Given the description of an element on the screen output the (x, y) to click on. 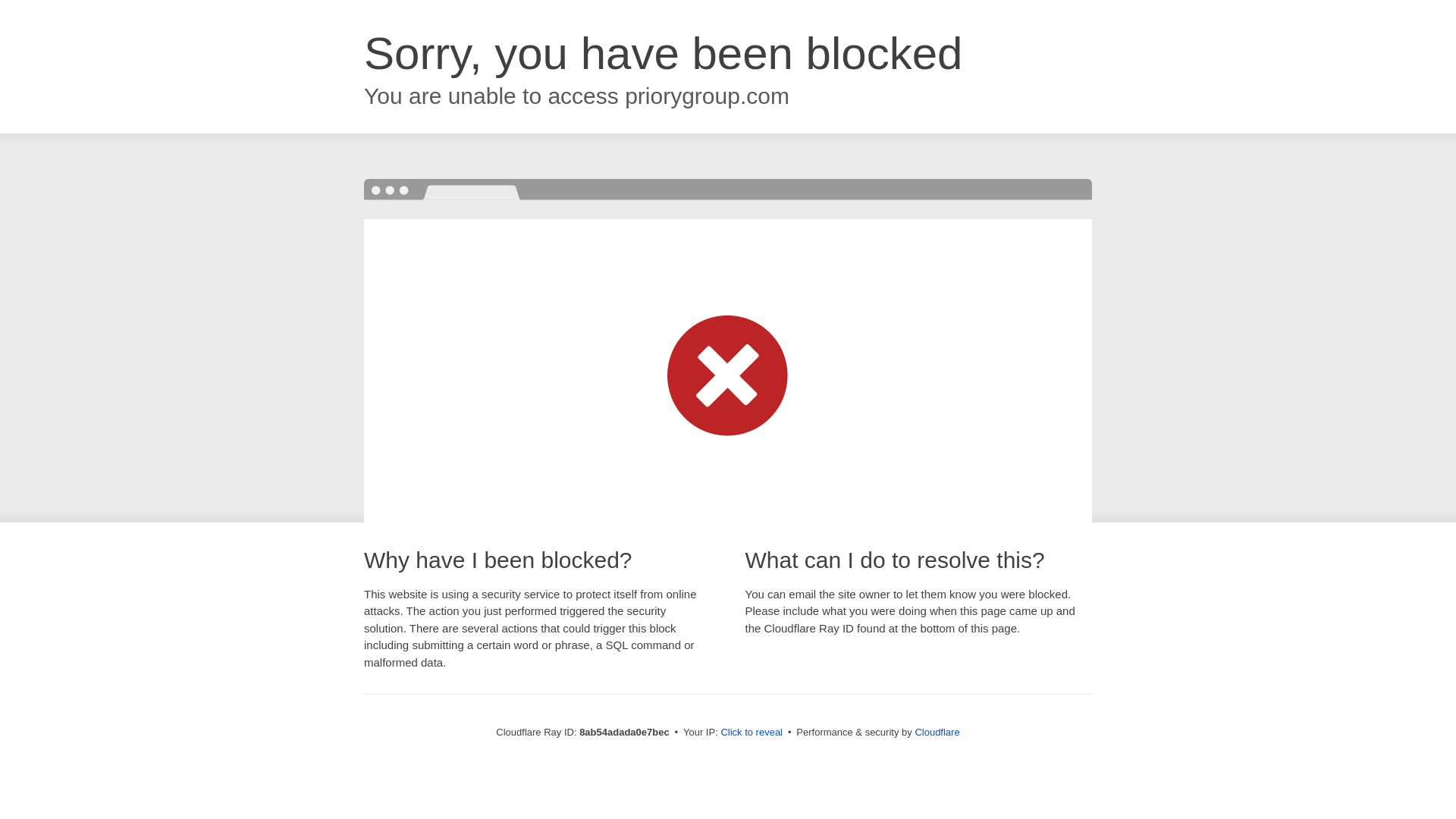
Cloudflare (936, 731)
Click to reveal (751, 732)
